Given the description of an element on the screen output the (x, y) to click on. 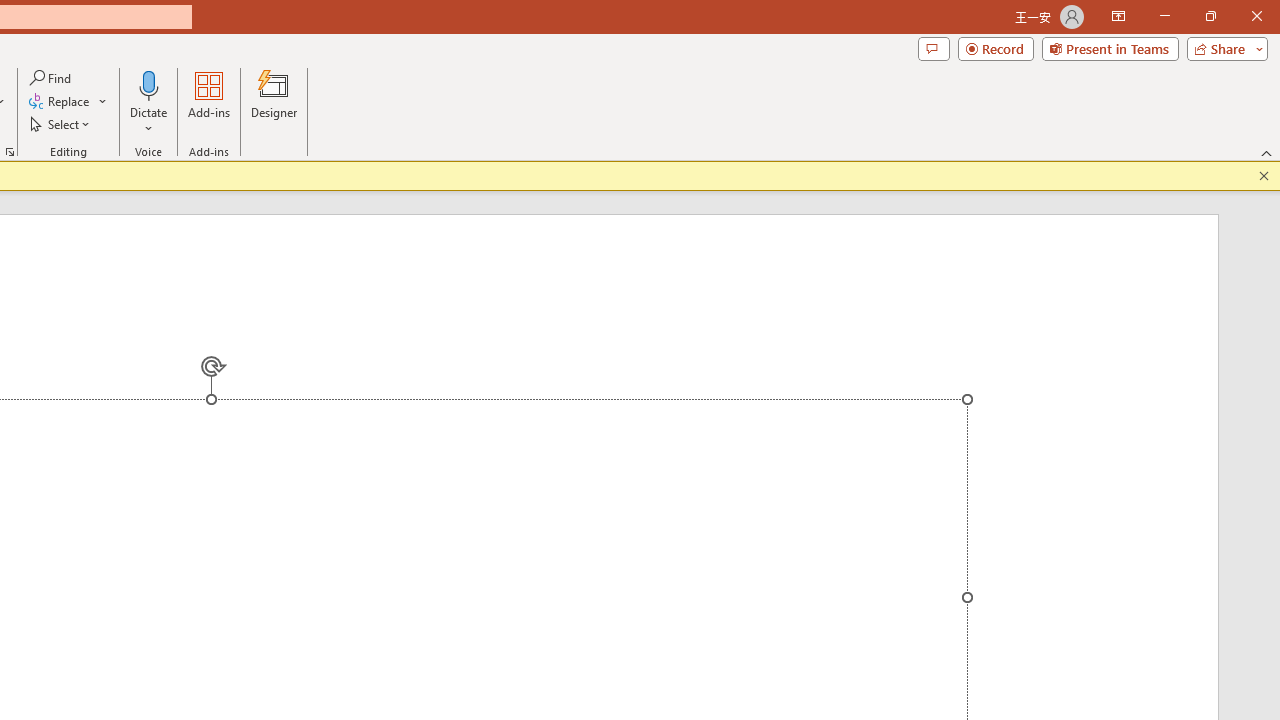
Comments (933, 48)
Find... (51, 78)
Close this message (1263, 176)
Dictate (149, 84)
Collapse the Ribbon (1267, 152)
